Given the description of an element on the screen output the (x, y) to click on. 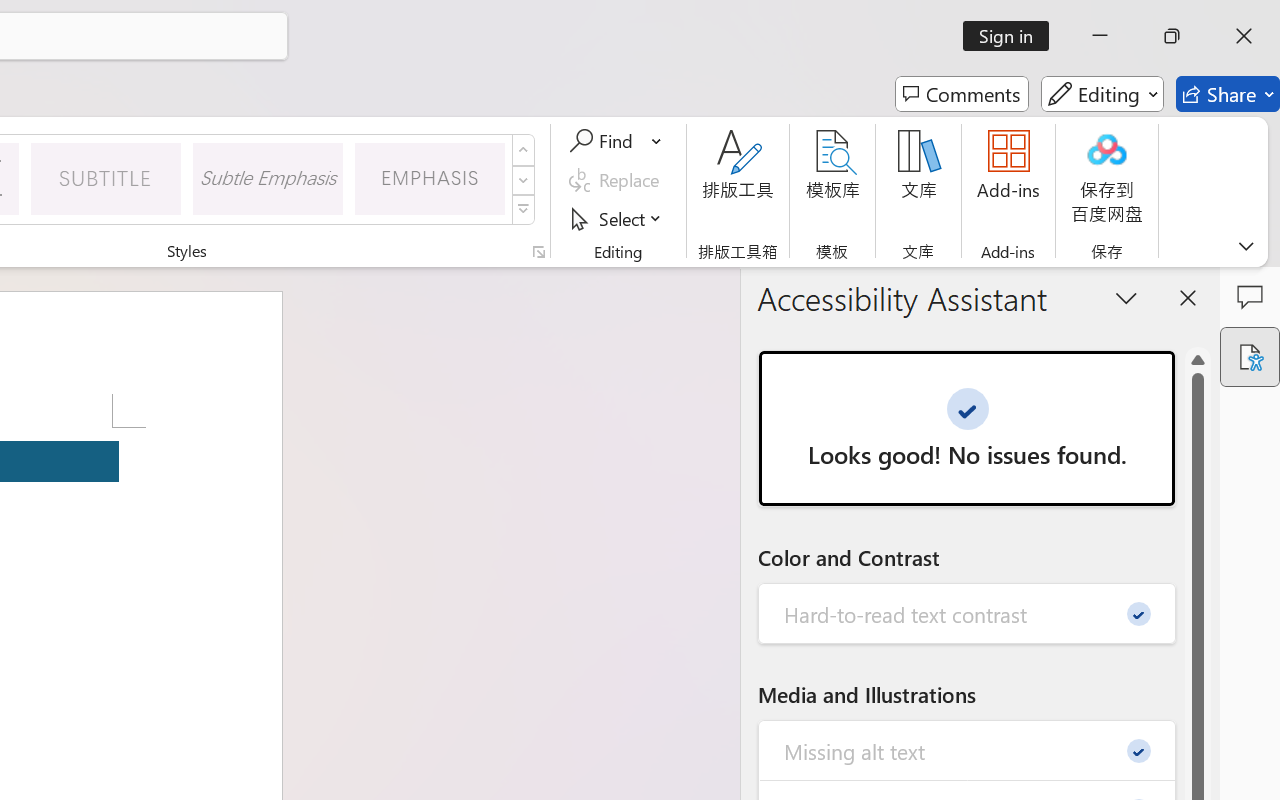
Subtitle (105, 178)
